Given the description of an element on the screen output the (x, y) to click on. 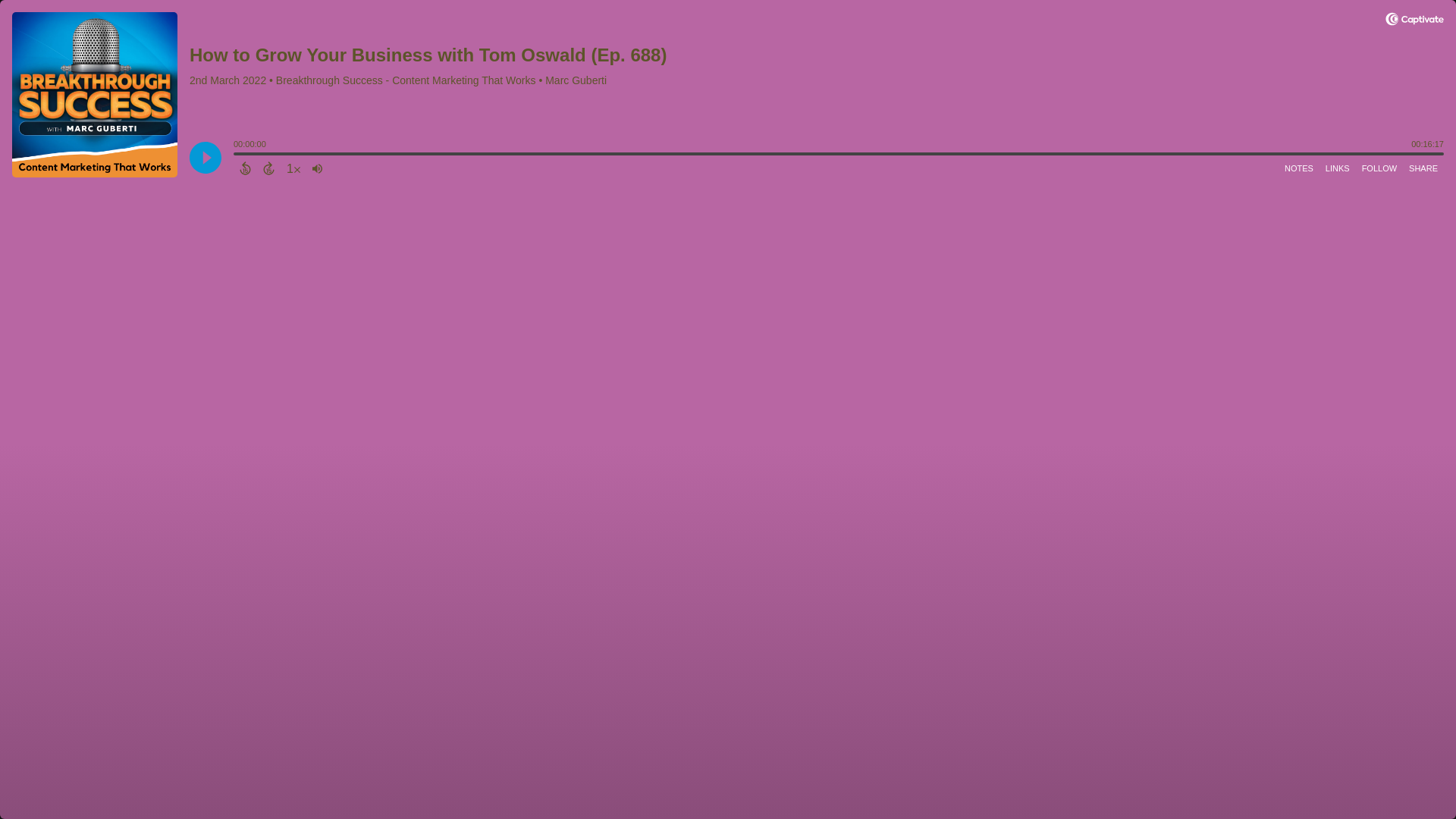
1 (293, 167)
LINKS (1337, 167)
SHARE (1423, 167)
FOLLOW (1379, 167)
NOTES (1298, 167)
